Given the description of an element on the screen output the (x, y) to click on. 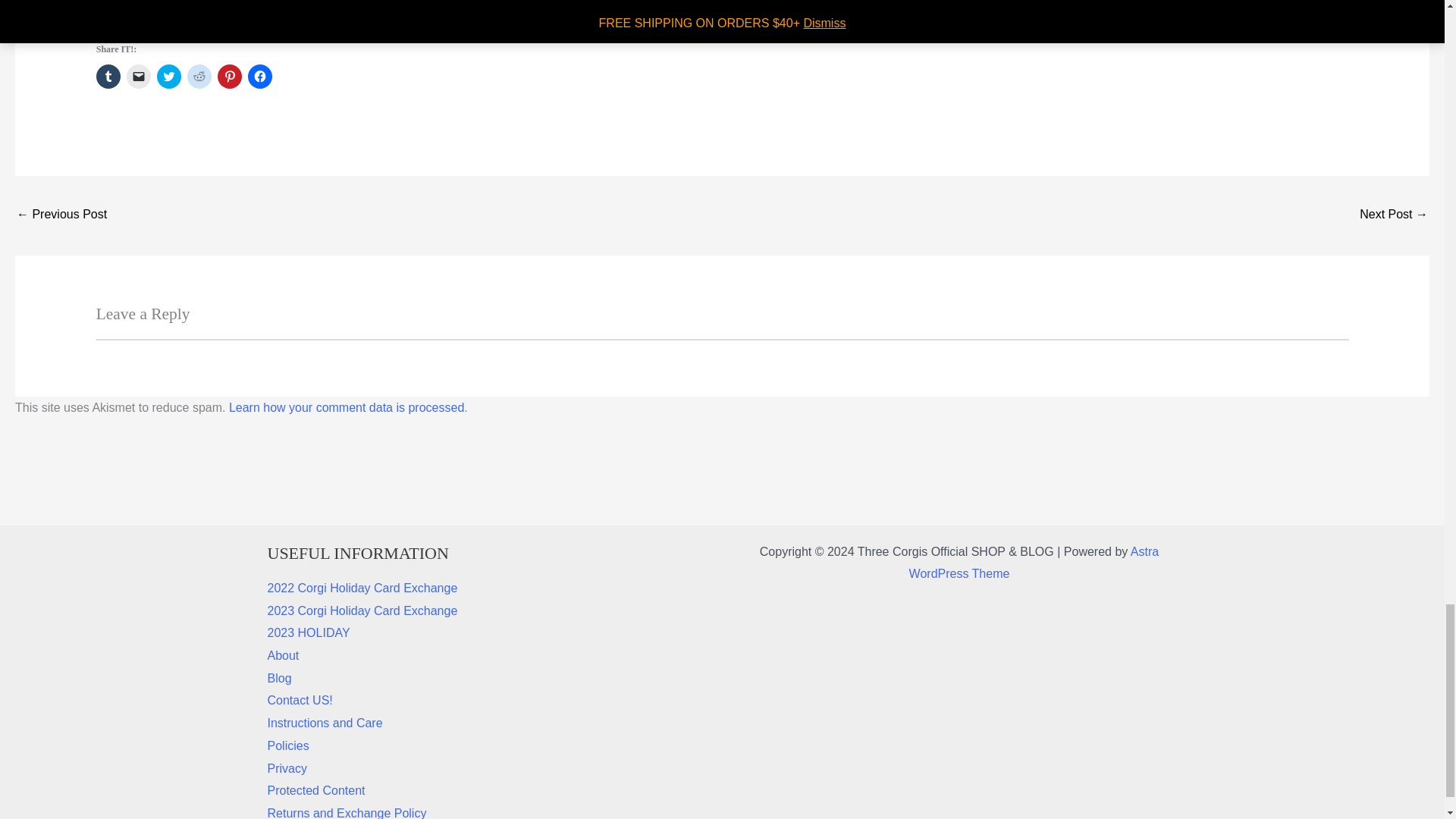
Click to share on Twitter (168, 76)
Corgi Butts drive you nuts!!! (61, 215)
Click to share on Pinterest (228, 76)
Click to share on Facebook (259, 76)
Click to email a link to a friend (138, 76)
Summer sale blow out (1393, 215)
Click to share on Reddit (199, 76)
Click to share on Tumblr (108, 76)
